Given the description of an element on the screen output the (x, y) to click on. 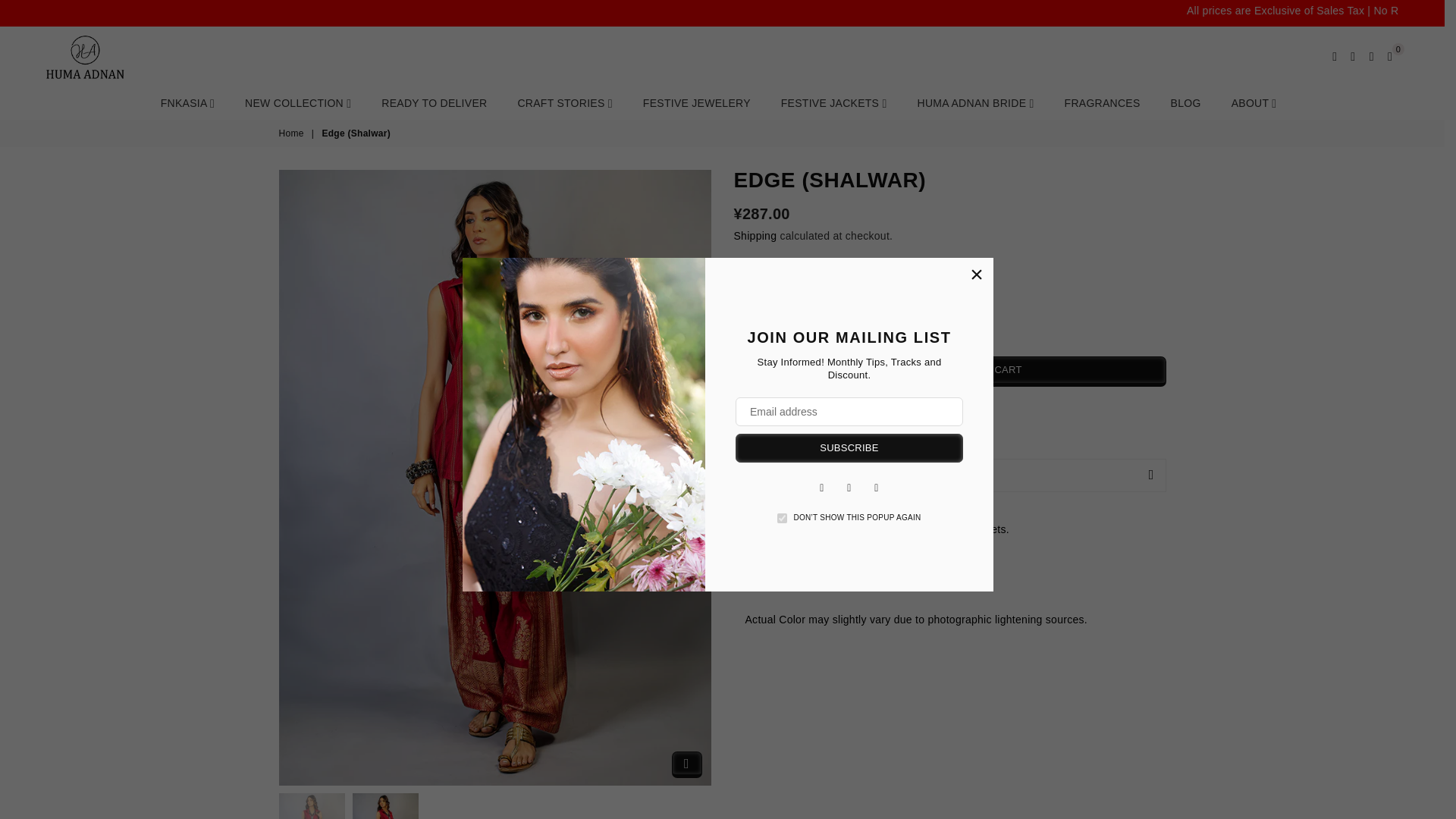
on (782, 518)
Back to the home page (292, 133)
Instagram (876, 487)
Twitter (849, 487)
NEW COLLECTION (297, 102)
Huma Adnan on Instagram (876, 487)
Huma Adnan (113, 56)
SUBSCRIBE (848, 448)
Huma Adnan on Facebook (821, 487)
Huma Adnan on Twitter (849, 487)
FNKASIA (187, 102)
Facebook (821, 487)
Quantity (767, 371)
